Given the description of an element on the screen output the (x, y) to click on. 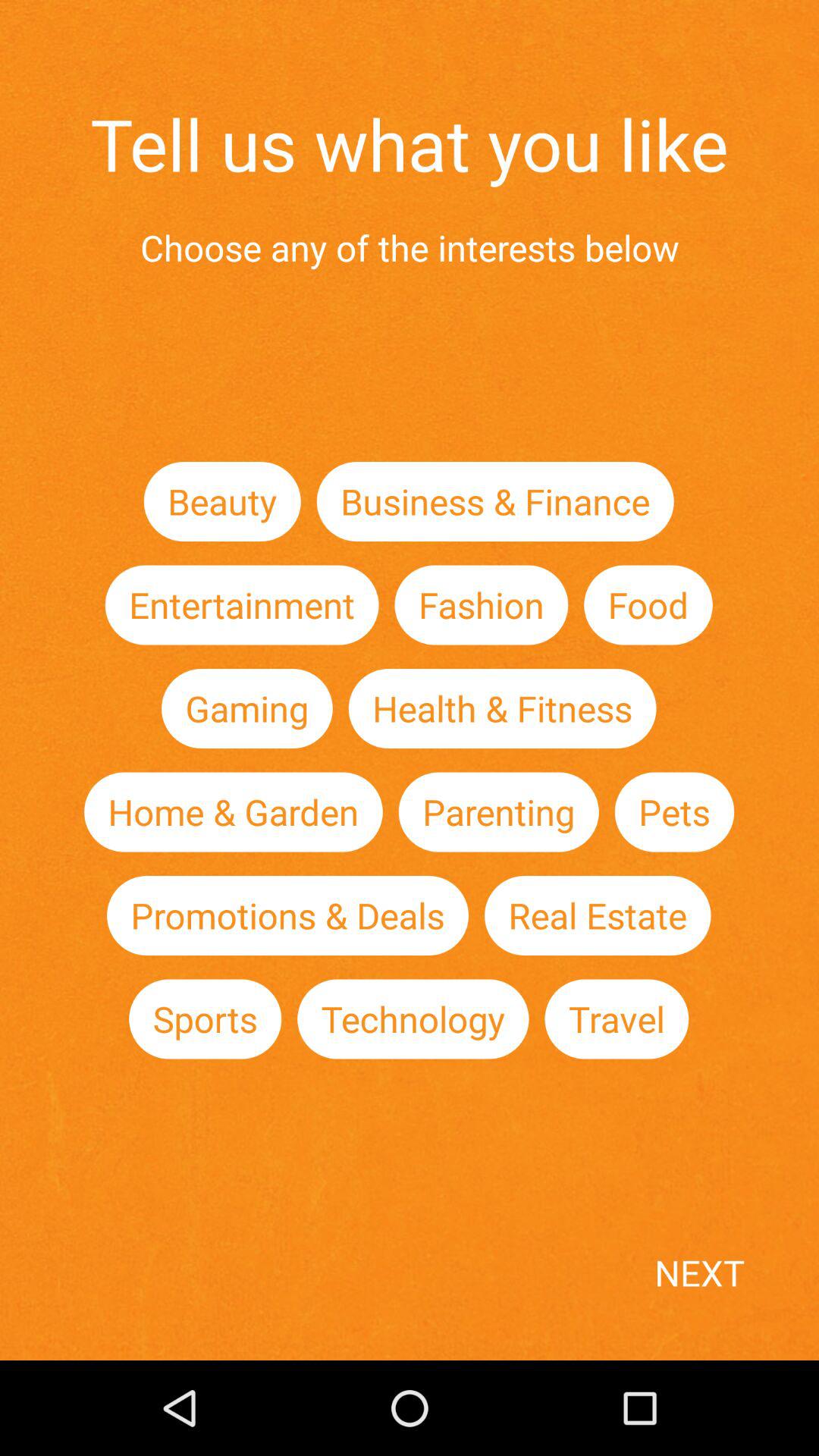
select icon below the entertainment item (246, 708)
